Given the description of an element on the screen output the (x, y) to click on. 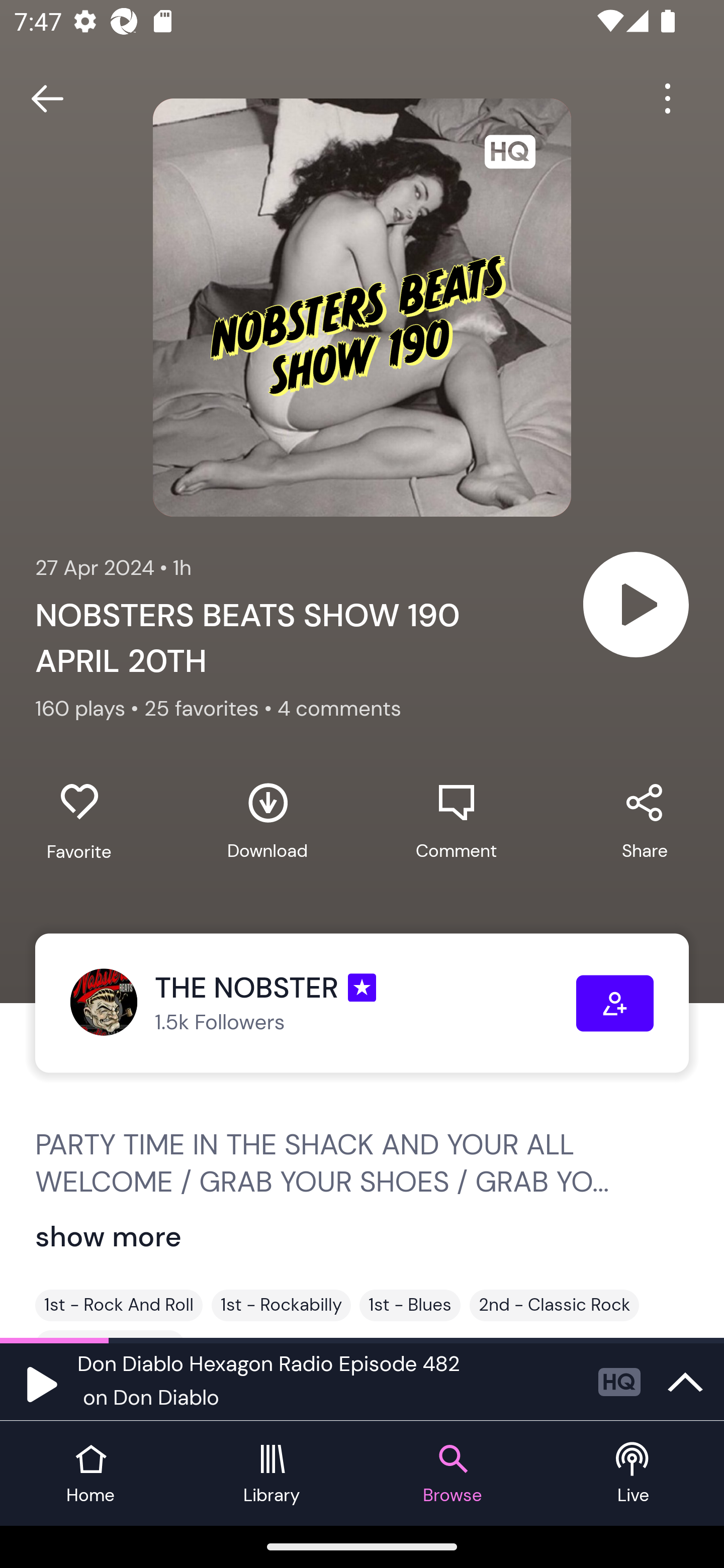
25 favorites •  (210, 708)
4 comments (339, 708)
Favorite (79, 821)
Download (267, 821)
Comment (455, 821)
Share (644, 821)
Follow (614, 1003)
1st - Rock And Roll (118, 1304)
1st - Rockabilly (281, 1304)
1st - Blues (409, 1304)
2nd - Classic Rock (554, 1304)
Home tab Home (90, 1473)
Library tab Library (271, 1473)
Browse tab Browse (452, 1473)
Live tab Live (633, 1473)
